Given the description of an element on the screen output the (x, y) to click on. 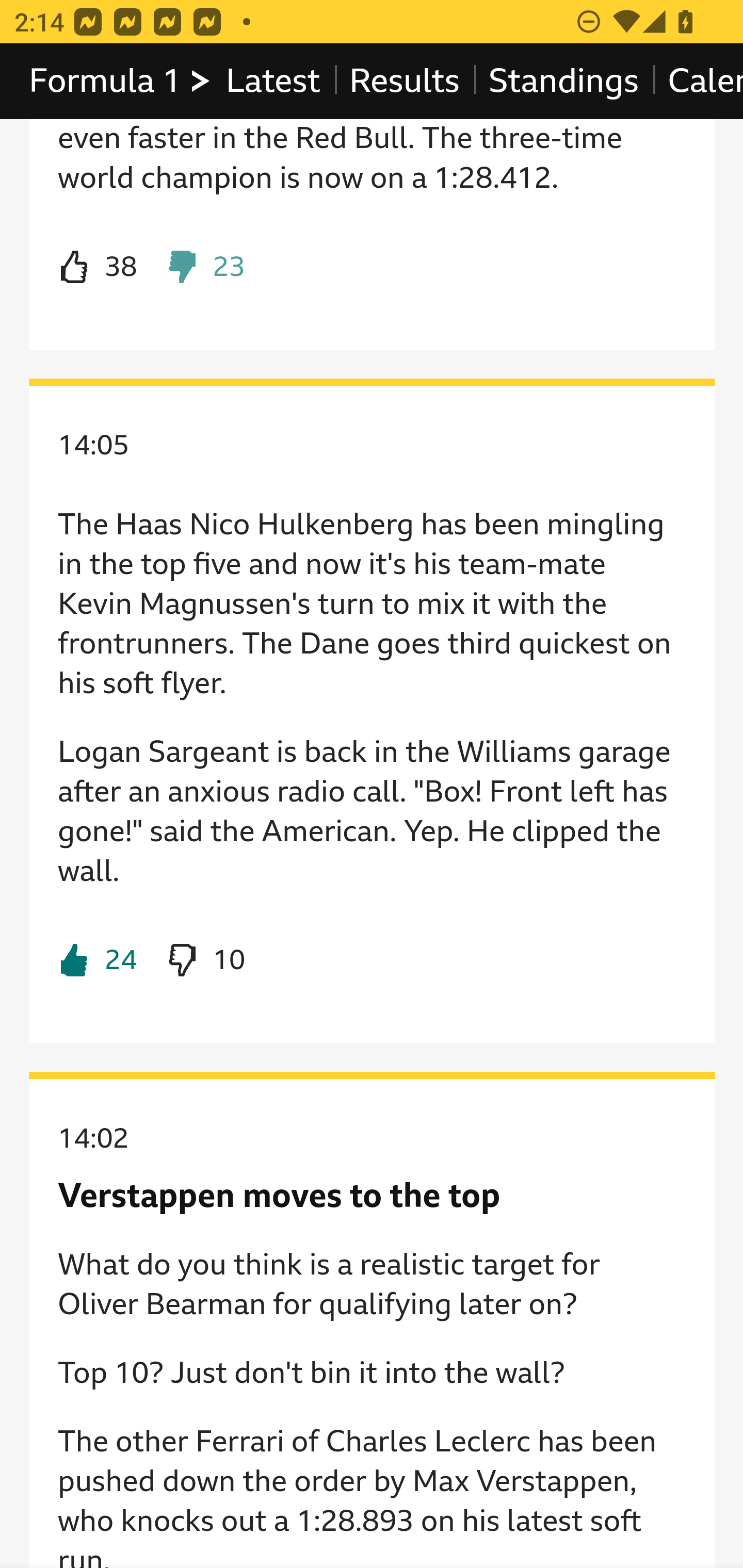
Like (97, 267)
Disliked (204, 267)
Liked (97, 960)
Dislike (204, 960)
